Given the description of an element on the screen output the (x, y) to click on. 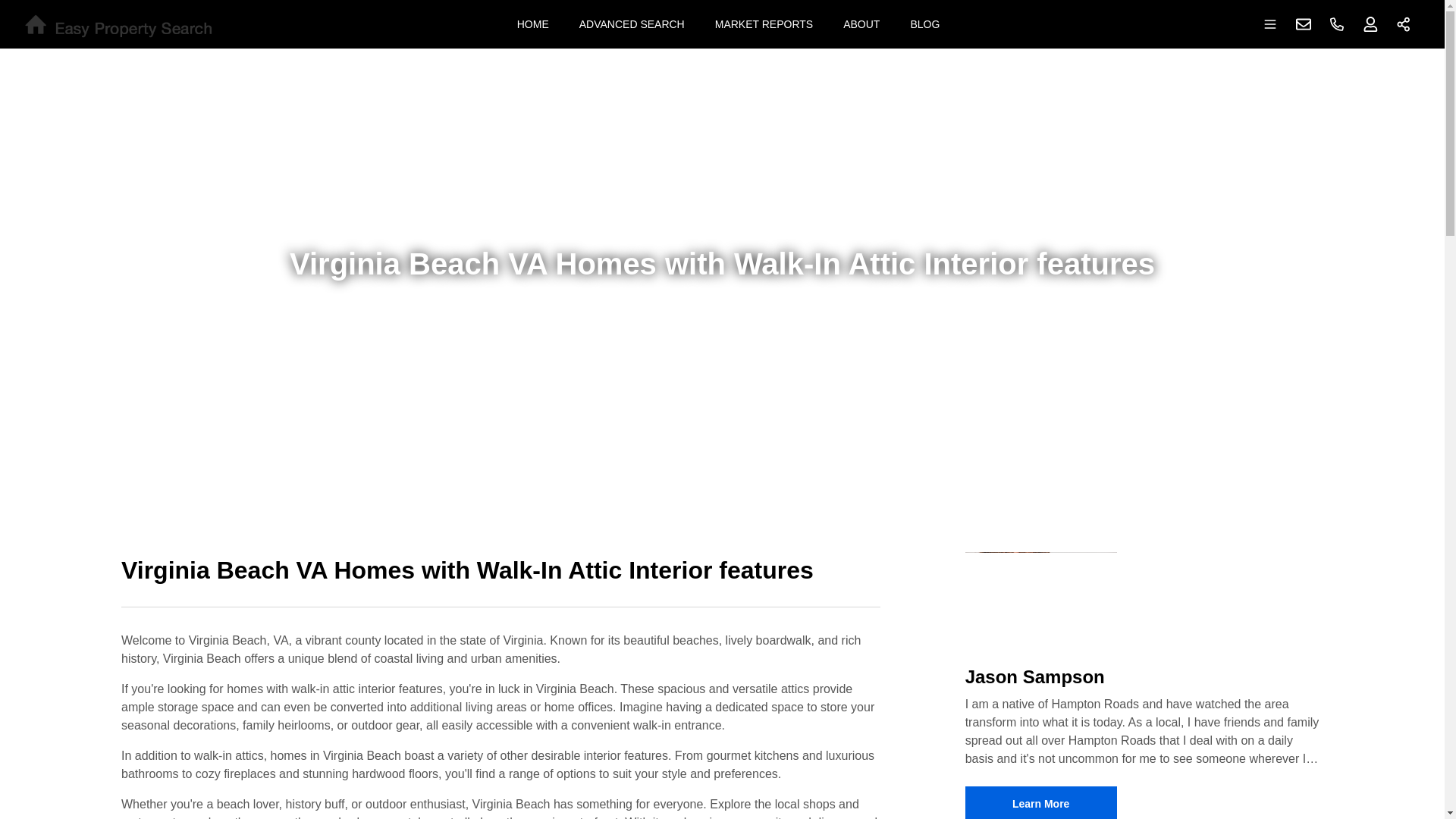
ADVANCED SEARCH (632, 24)
Contact us (1303, 23)
MARKET REPORTS (764, 24)
Open main menu (1270, 23)
Phone number (1337, 23)
BLOG (925, 24)
ABOUT (861, 24)
Sevencityrealty.com (118, 24)
Virginia Beach VA Homes with Walk-In Attic Interior features (500, 579)
Sign up or Sign in (1370, 23)
